Given the description of an element on the screen output the (x, y) to click on. 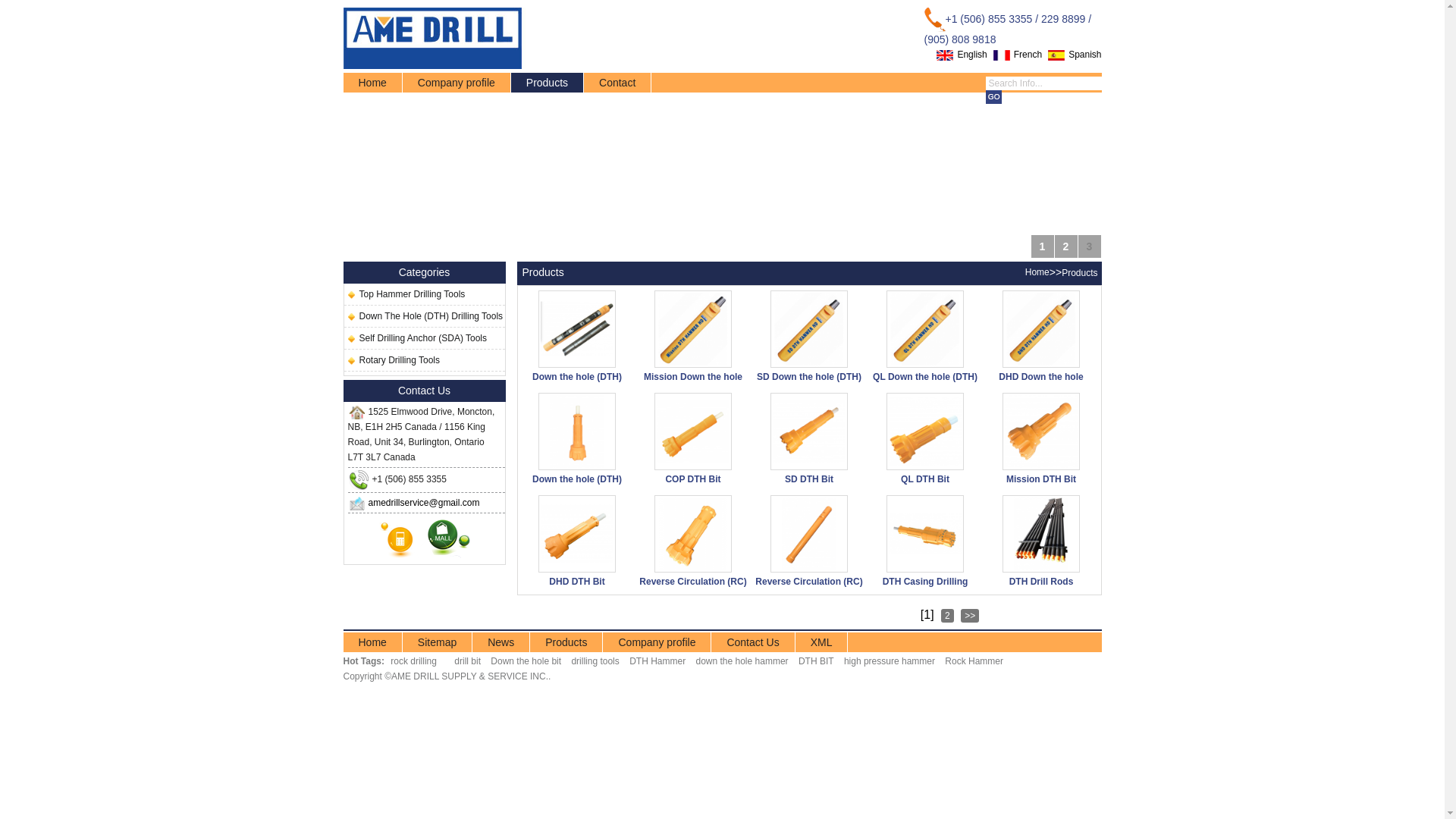
SD Down the hole (DTH) Hammers Element type: hover (800, 363)
DTH Casing Drilling System Element type: text (924, 580)
Down the hole (DTH) Hammers Element type: hover (568, 363)
Mission DTH Bit Element type: text (1040, 478)
Company profile Element type: text (456, 82)
News Element type: text (500, 642)
Reverse Circulation (RC) bit Element type: text (691, 580)
Down The Hole (DTH) Drilling Tools Element type: text (423, 315)
2 Element type: text (947, 615)
COP DTH Bit Element type: text (691, 478)
DTH Casing Drilling System Element type: hover (916, 567)
QL DTH Bit Element type: hover (916, 465)
Home Element type: text (1037, 272)
QL Down the hole (DTH) Hammers Element type: hover (916, 363)
Reverse Circulation (RC) hammer Element type: text (808, 580)
DTH BIT Element type: text (815, 660)
SD Down the hole (DTH) Hammers Element type: text (808, 375)
DTH Drill Rods Element type: hover (1032, 567)
Down the hole (DTH) Hammers Element type: text (576, 375)
DHD DTH Bit Element type: hover (568, 567)
amedrillservice@gmail.com Element type: text (424, 502)
drilling tools Element type: text (594, 660)
Down the hole (DTH) Button Bits Element type: text (576, 478)
SD DTH Bit Element type: hover (800, 465)
Self Drilling Anchor (SDA) Tools Element type: text (415, 337)
1 Element type: text (1042, 246)
Rock Hammer Element type: text (974, 660)
Down the hole bit Element type: text (525, 660)
Reverse Circulation (RC) hammer Element type: hover (800, 567)
QL DTH Bit Element type: text (924, 478)
QL Down the hole (DTH) Hammers Element type: text (924, 375)
Reverse Circulation (RC) bit Element type: hover (684, 567)
Mission Down the hole (DTH) Hammers Element type: text (691, 375)
high pressure hammer Element type: text (889, 660)
drill bit Element type: text (467, 660)
DTH Drill Rods Element type: text (1040, 580)
3 Element type: text (1089, 246)
Mission DTH Bit Element type: hover (1032, 465)
>> Element type: text (969, 615)
Products Element type: text (565, 642)
Home Element type: text (371, 642)
Mission Down the hole (DTH) Hammers Element type: hover (684, 363)
Top Hammer Drilling Tools Element type: text (404, 293)
Down the hole (DTH) Button Bits Element type: hover (568, 465)
SD DTH Bit Element type: text (808, 478)
Products Element type: text (546, 82)
Rotary Drilling Tools Element type: text (391, 359)
COP DTH Bit Element type: hover (684, 465)
XML Element type: text (821, 642)
down the hole hammer Element type: text (741, 660)
rock drilling Element type: text (413, 660)
Products Element type: text (1079, 272)
Sitemap Element type: text (436, 642)
Contact Element type: text (617, 82)
Contact Us Element type: text (752, 642)
DHD DTH Bit Element type: text (576, 580)
DHD Down the hole (DTH) Hammers Element type: hover (1032, 363)
DTH Hammer Element type: text (657, 660)
Company profile Element type: text (656, 642)
2 Element type: text (1065, 246)
Home Element type: text (371, 82)
DHD Down the hole (DTH) Hammers Element type: text (1040, 375)
